Given the description of an element on the screen output the (x, y) to click on. 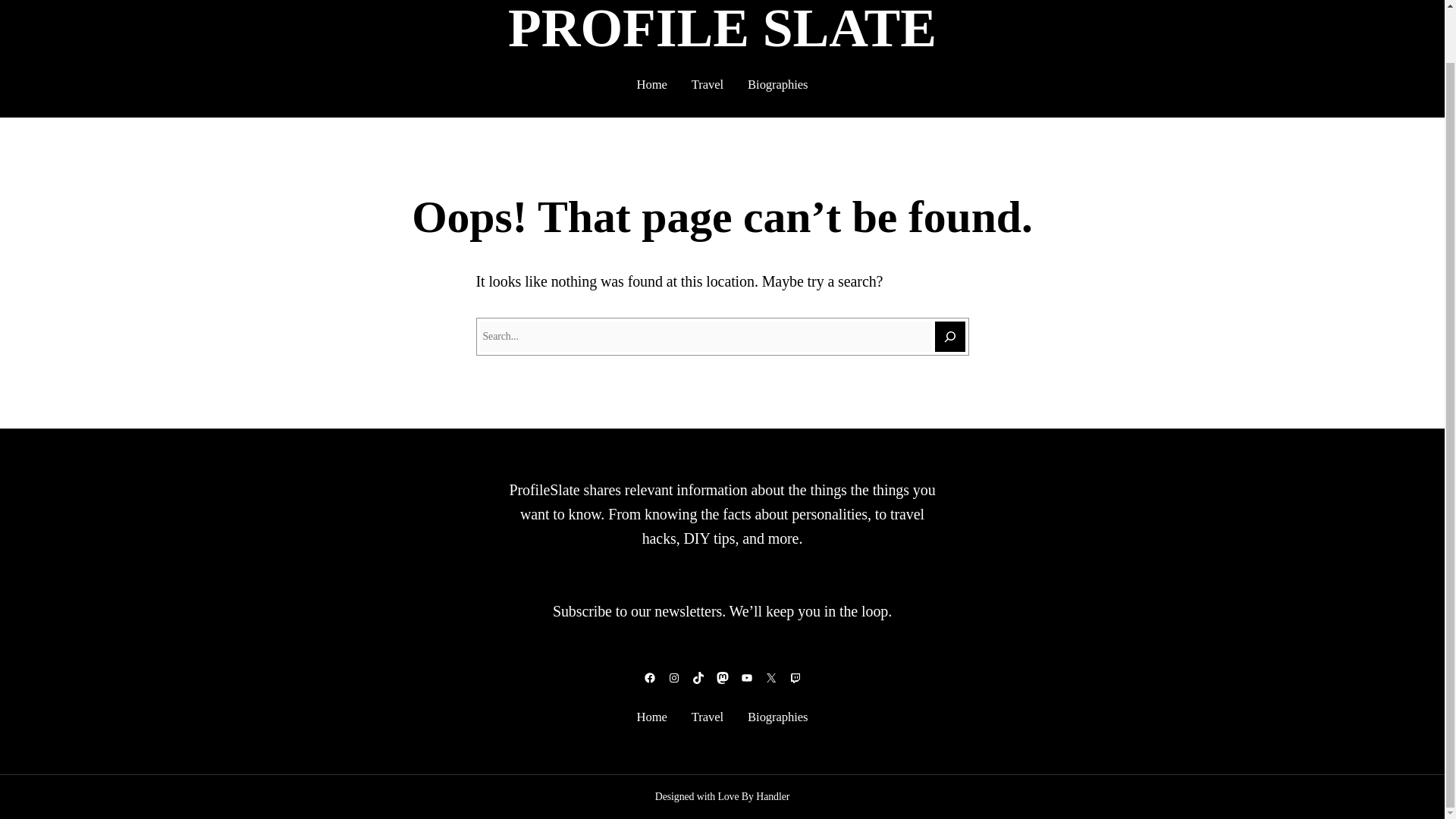
X (770, 677)
Mastodon (722, 677)
TikTok (697, 677)
PROFILE SLATE (722, 29)
YouTube (745, 677)
Instagram (672, 677)
Travel (707, 716)
Biographies (778, 84)
Biographies (778, 716)
Home (651, 716)
Home (651, 84)
Twitch (794, 677)
Facebook (649, 677)
Travel (707, 84)
